Given the description of an element on the screen output the (x, y) to click on. 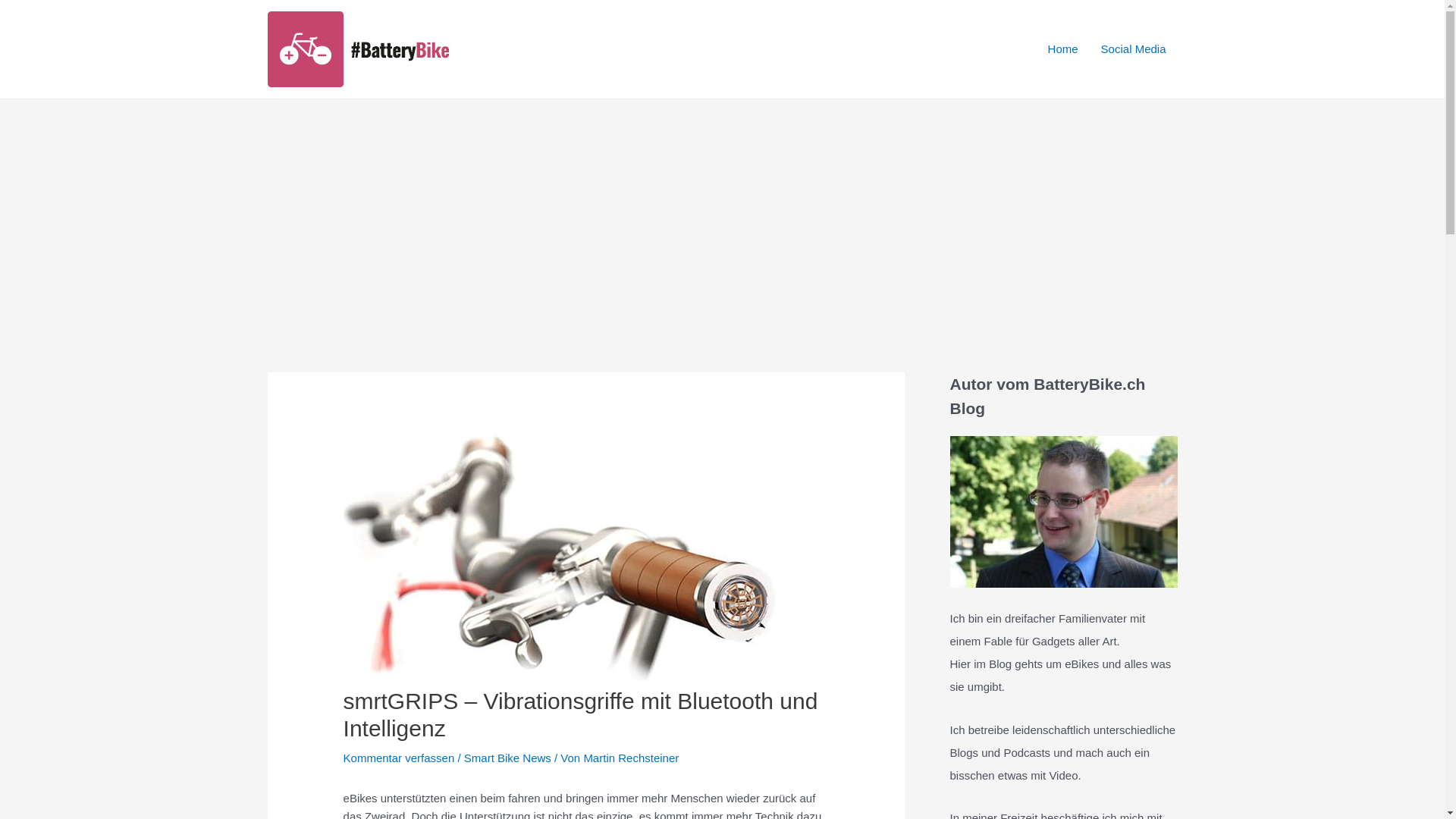
Advertisement Element type: hover (721, 212)
Martin Rechsteiner Element type: text (630, 757)
Home Element type: text (1062, 48)
Smart Bike News Element type: text (507, 757)
Social Media Element type: text (1133, 48)
Kommentar verfassen Element type: text (399, 757)
